Given the description of an element on the screen output the (x, y) to click on. 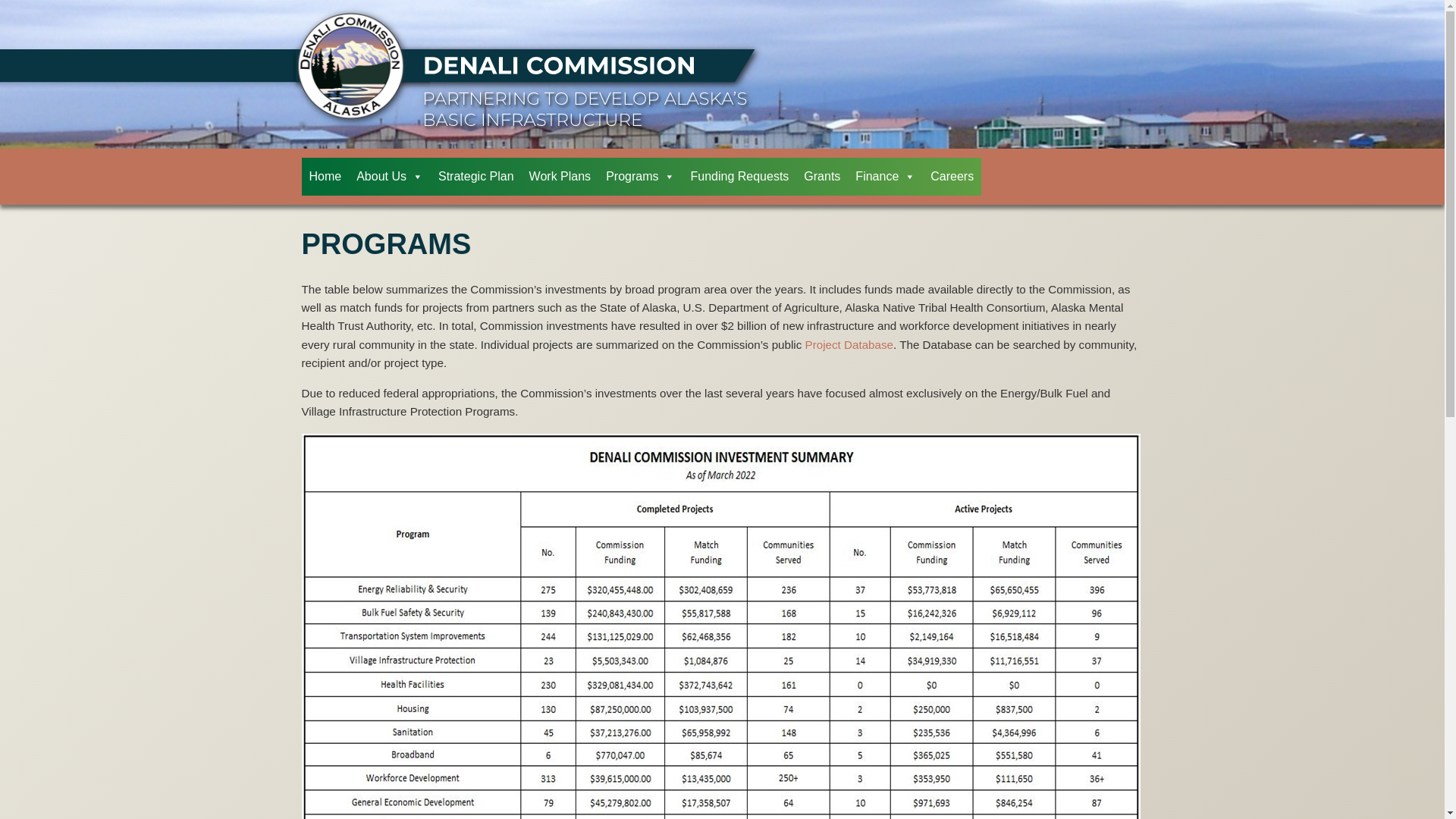
Finance (885, 176)
About Us (389, 176)
Project Database (849, 344)
Grants (821, 176)
Strategic Plan (475, 176)
Programs (640, 176)
Work Plans (559, 176)
Home (325, 176)
Funding Requests (739, 176)
Careers (952, 176)
